Given the description of an element on the screen output the (x, y) to click on. 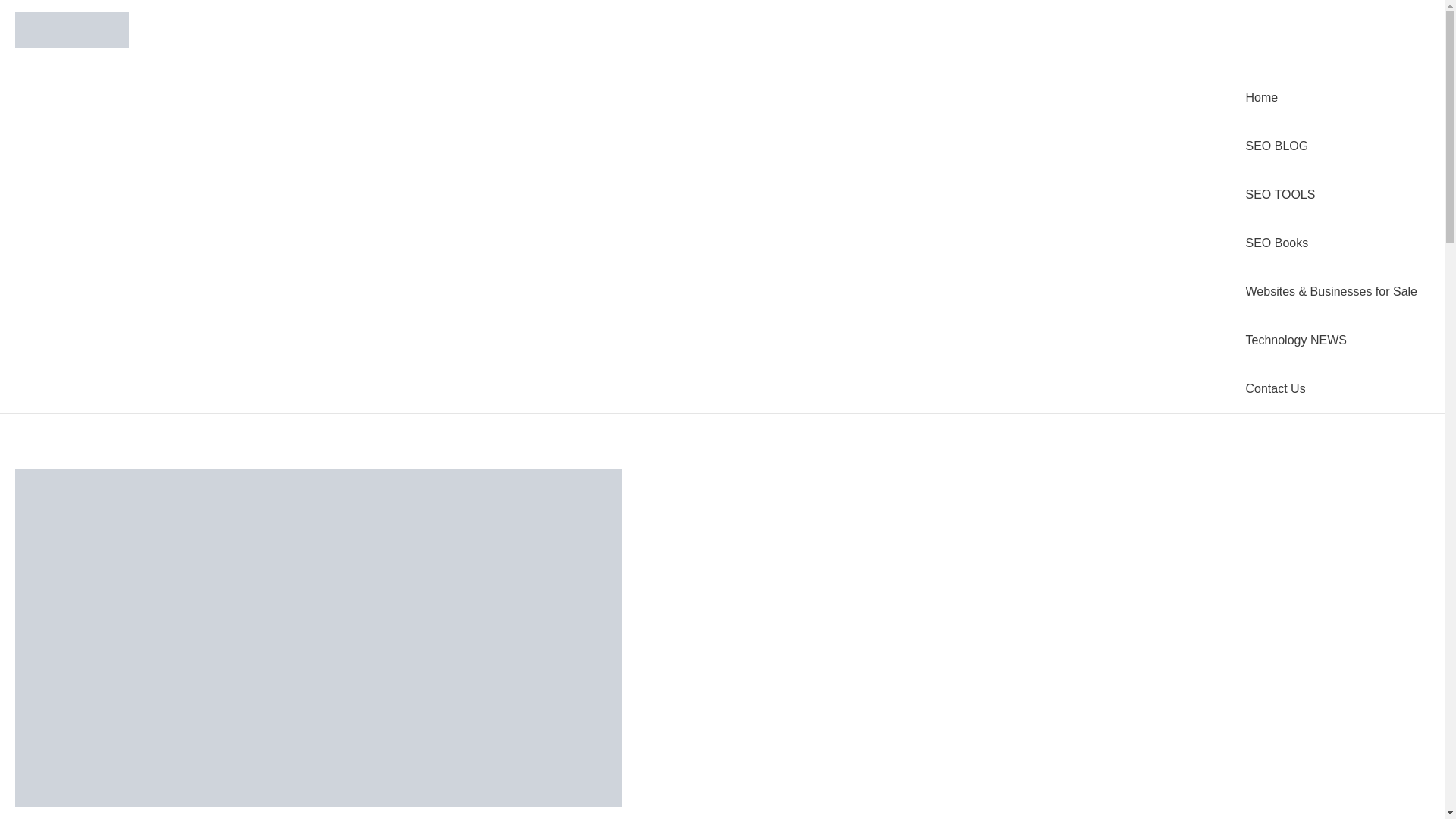
SEO BLOG (1331, 146)
SEO TOOLS (1331, 194)
Contact Us (1331, 388)
Technology NEWS (1331, 340)
SEO Books (1331, 243)
Home (1331, 97)
